Given the description of an element on the screen output the (x, y) to click on. 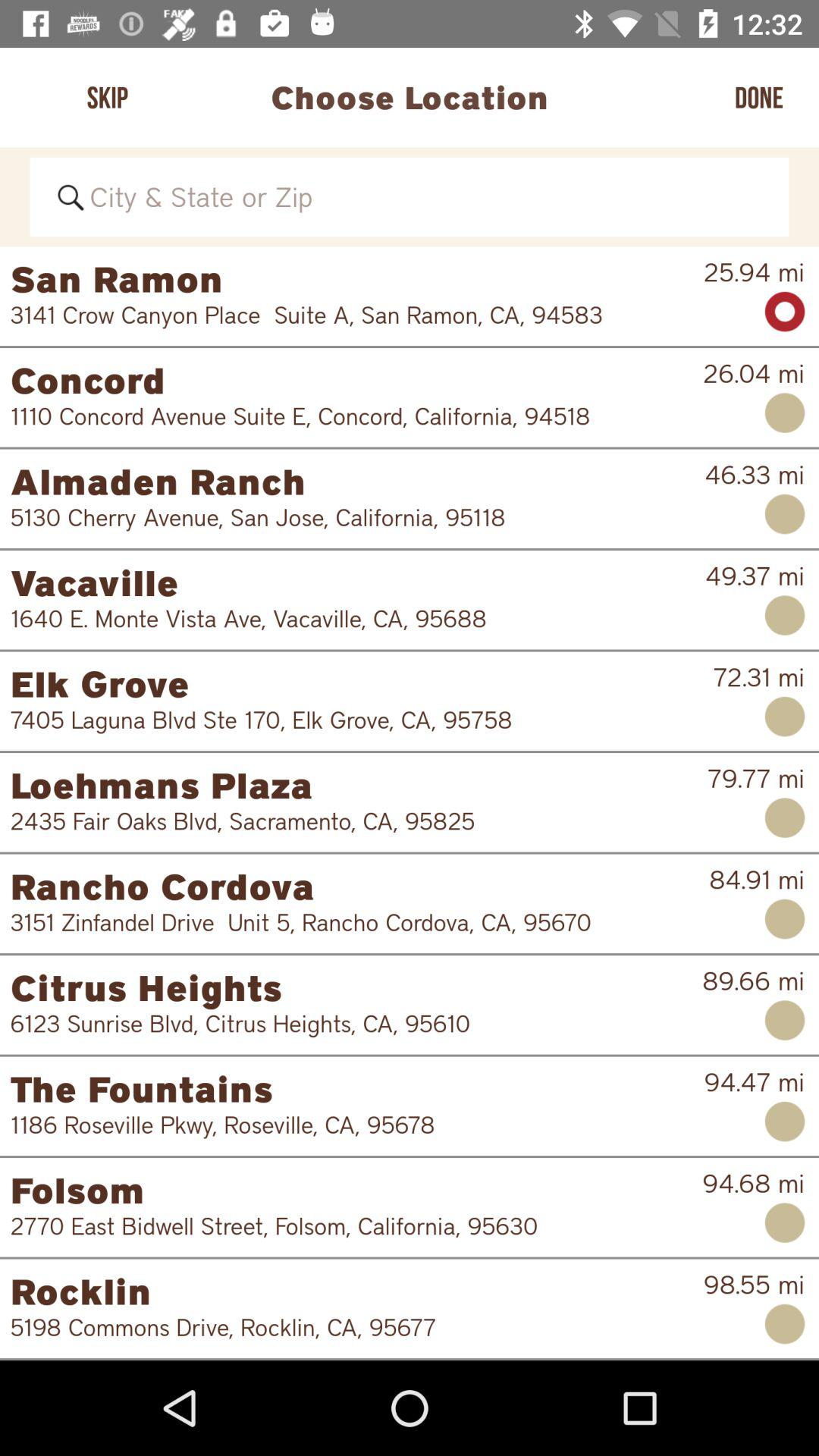
press icon next to 46.33 mi item (357, 481)
